Given the description of an element on the screen output the (x, y) to click on. 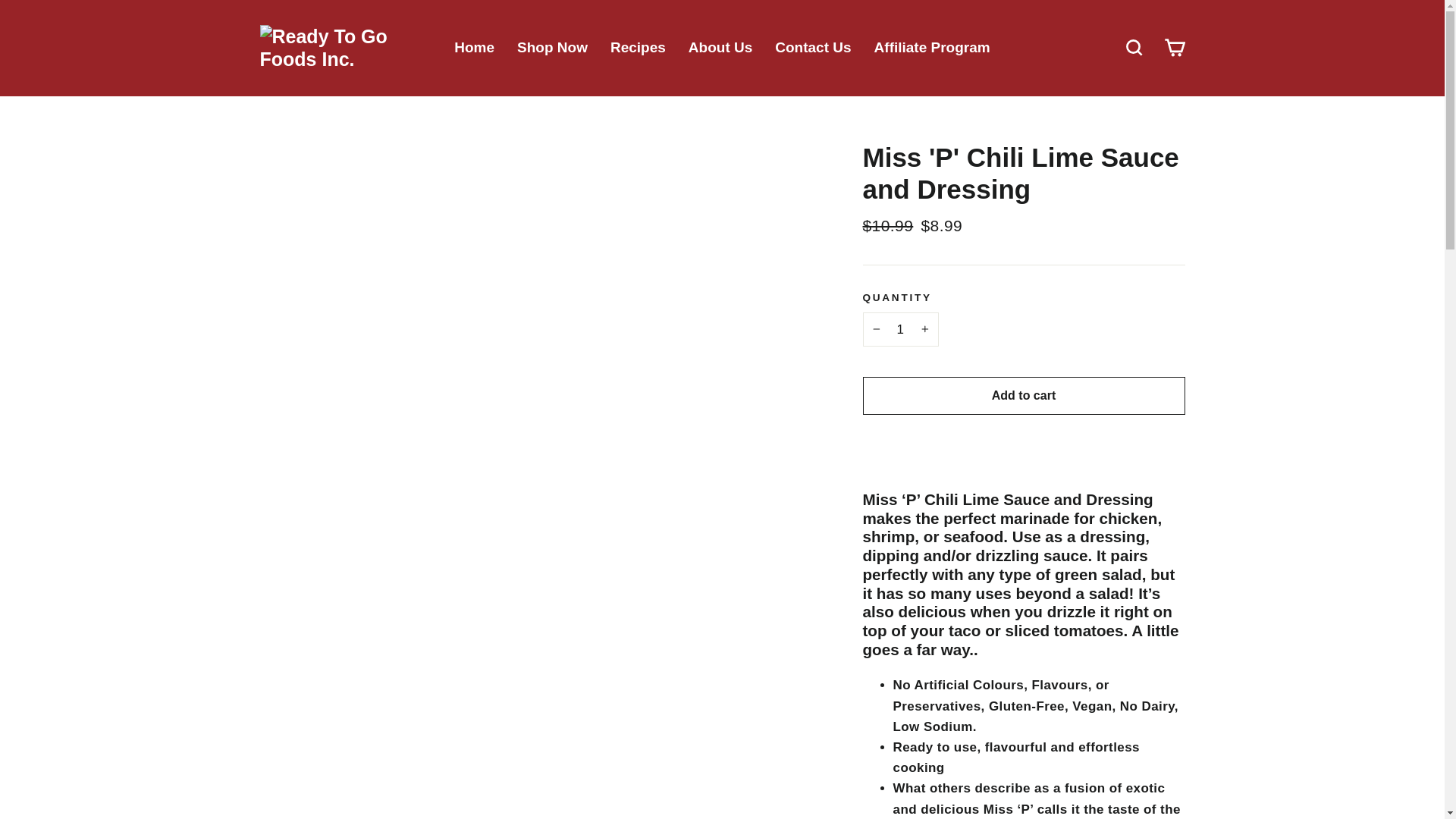
1 (901, 329)
Add to cart (1024, 395)
Cart (1173, 47)
About Us (719, 47)
Search (1134, 47)
Contact Us (811, 47)
Recipes (637, 47)
Affiliate Program (932, 47)
Shop Now (551, 47)
Home (473, 47)
